Given the description of an element on the screen output the (x, y) to click on. 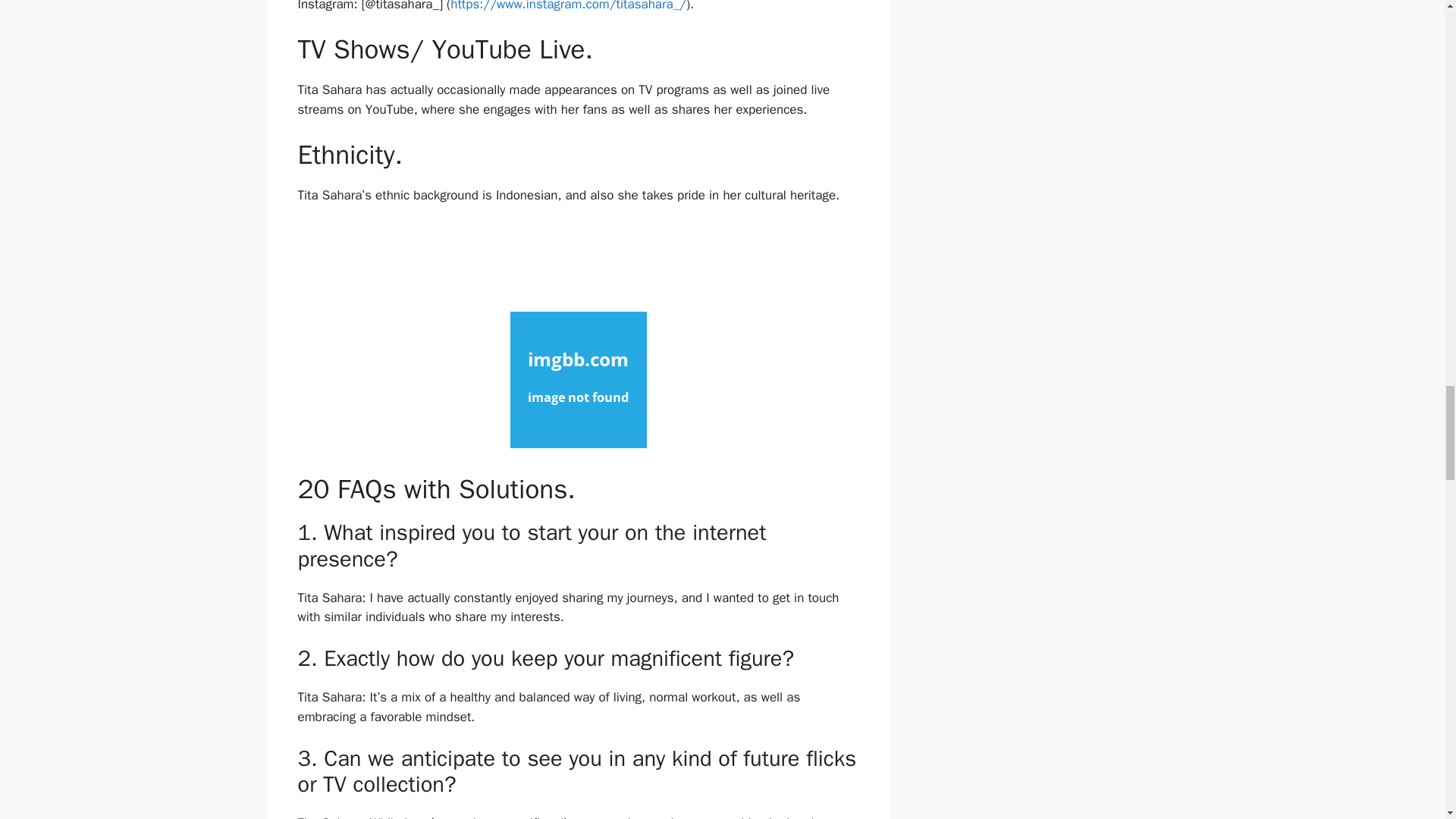
Advertisement (577, 258)
